Given the description of an element on the screen output the (x, y) to click on. 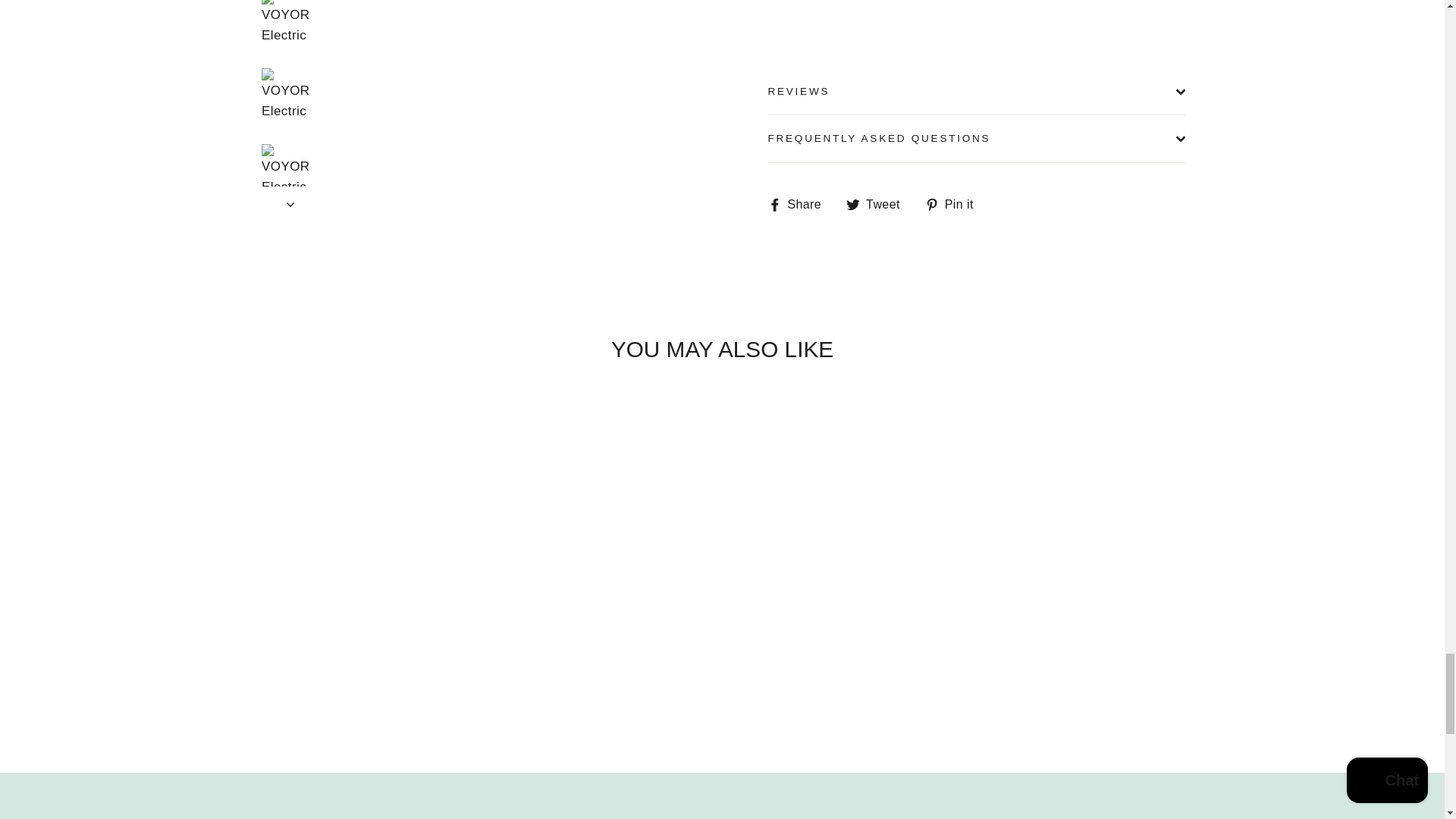
Share on Facebook (799, 204)
Tweet on Twitter (878, 204)
Pin on Pinterest (954, 204)
